Given the description of an element on the screen output the (x, y) to click on. 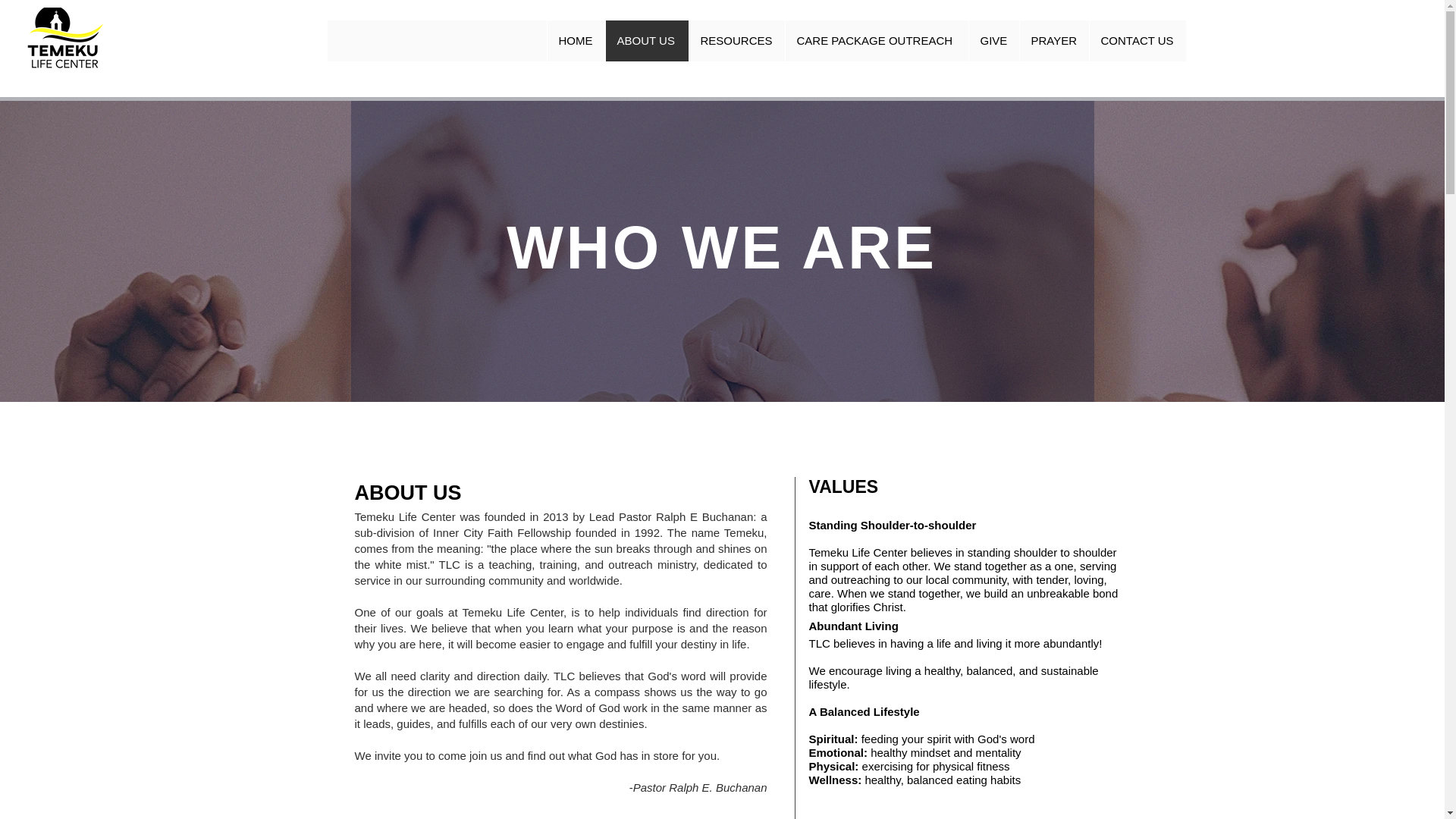
GIVE (992, 40)
RESOURCES (736, 40)
PRAYER (1054, 40)
CARE PACKAGE OUTREACH (876, 40)
HOME (575, 40)
ABOUT US (646, 40)
CONTACT US (1137, 40)
